Given the description of an element on the screen output the (x, y) to click on. 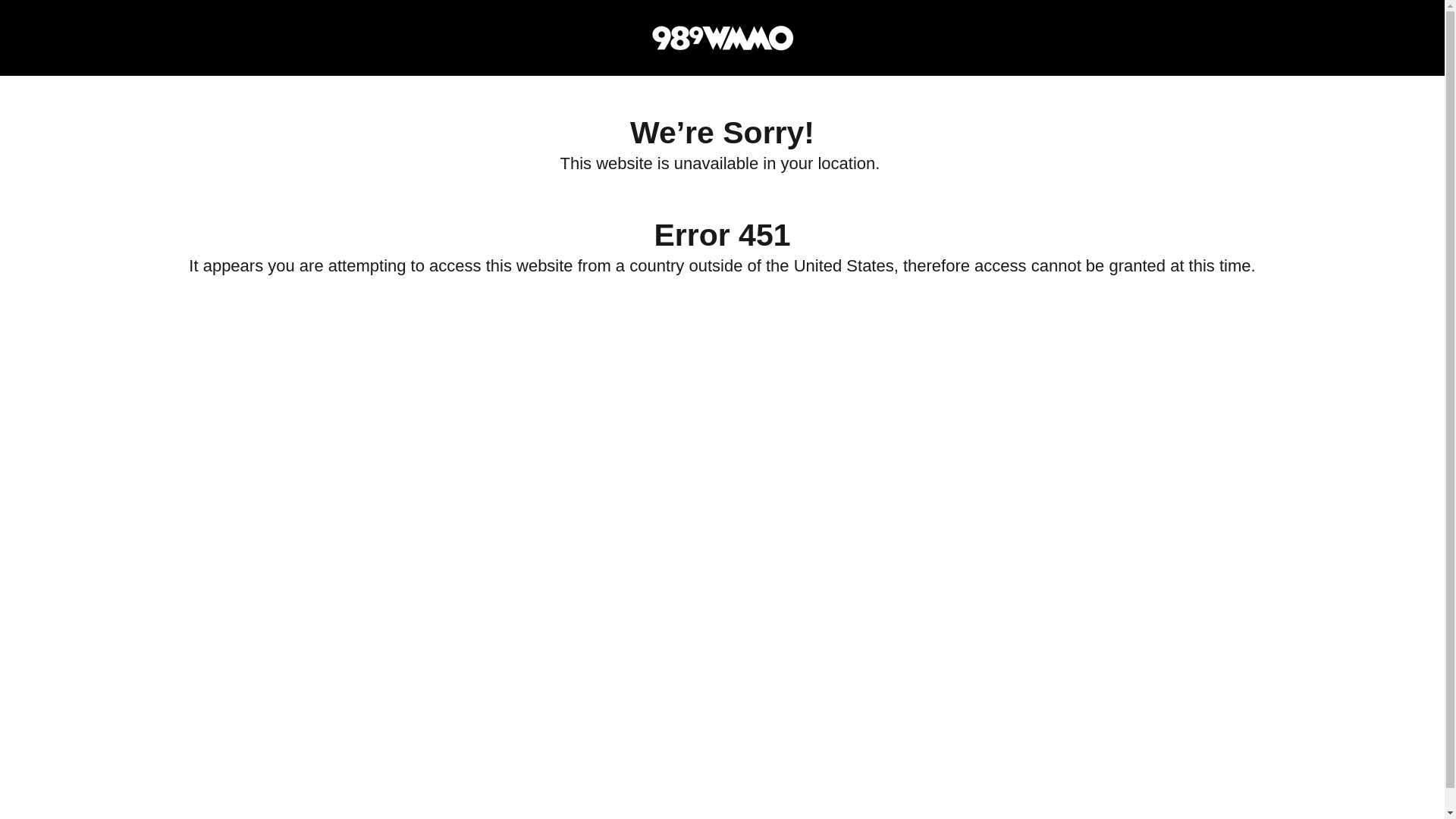
WMMO (721, 37)
